Given the description of an element on the screen output the (x, y) to click on. 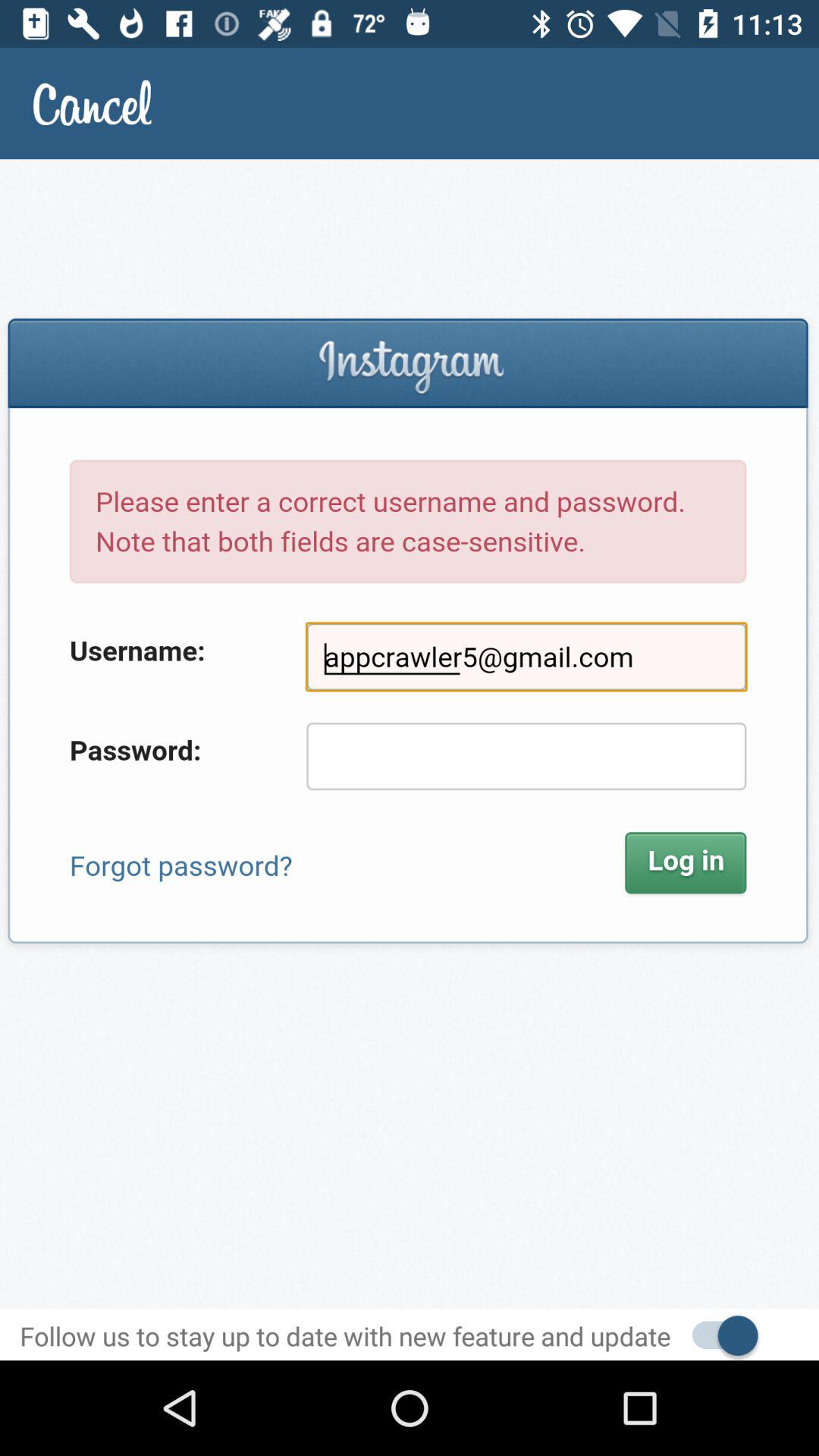
toggle follow option (717, 1334)
